Given the description of an element on the screen output the (x, y) to click on. 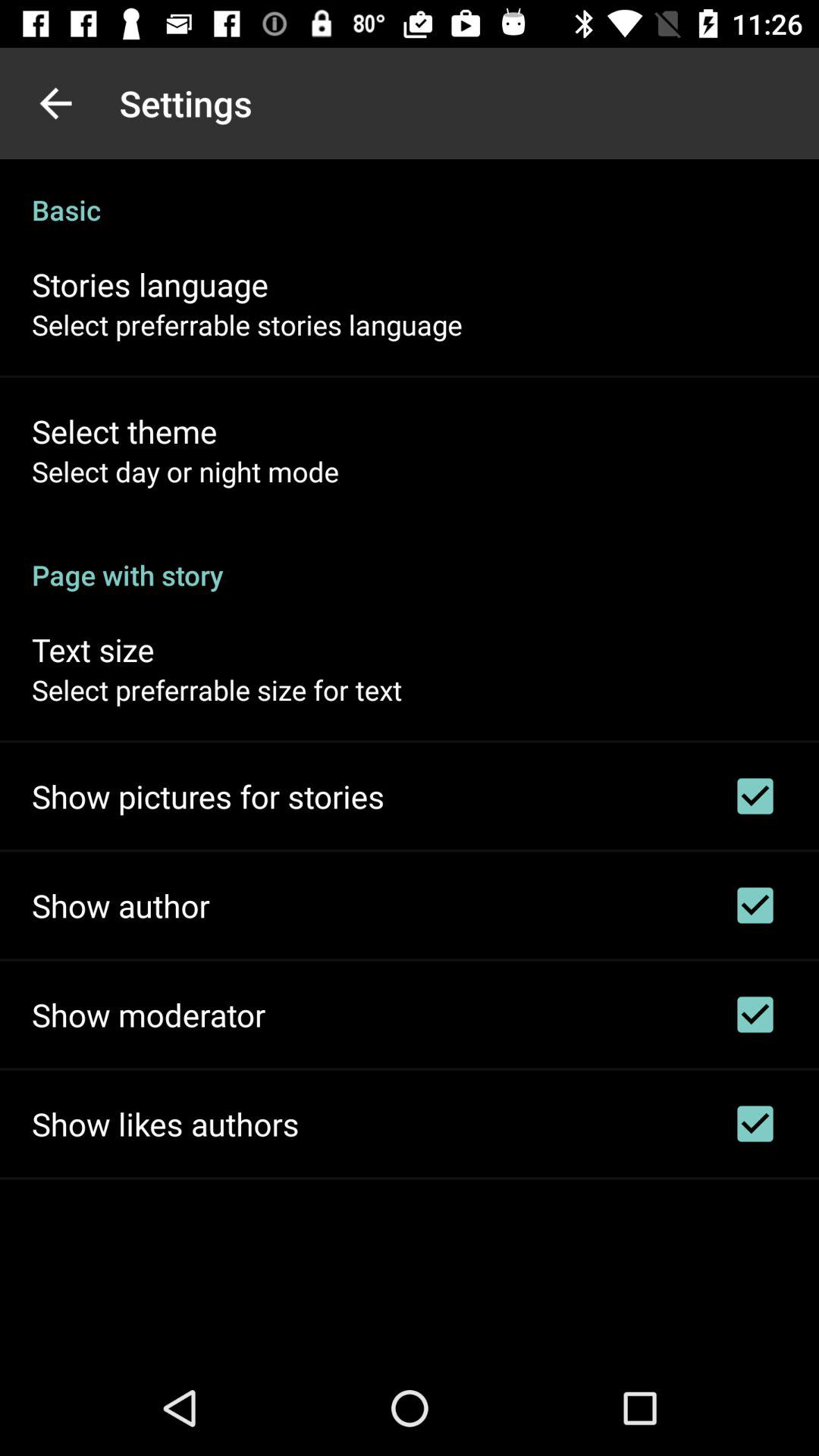
flip until the select theme item (124, 430)
